Given the description of an element on the screen output the (x, y) to click on. 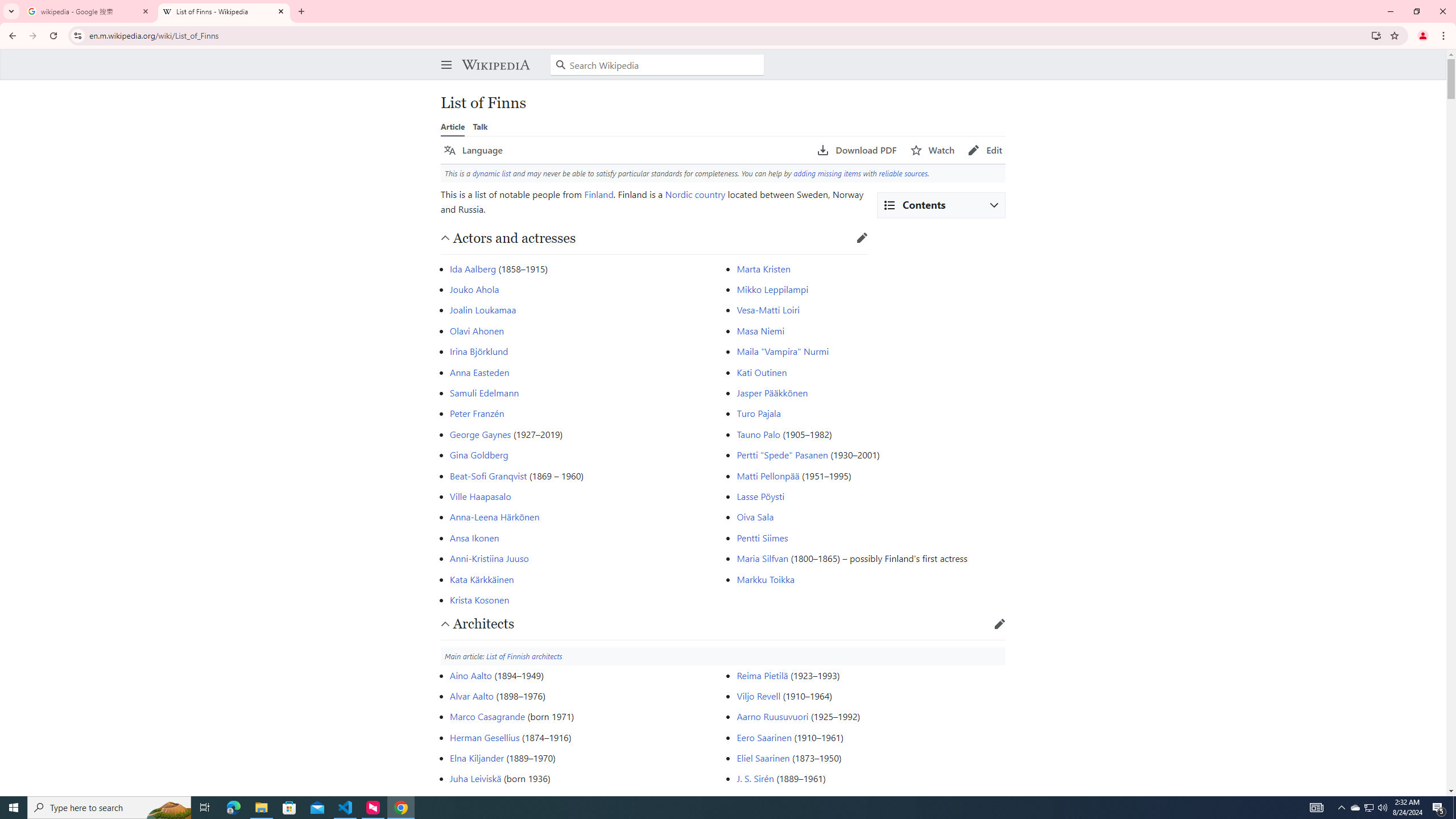
Masa Niemi (760, 330)
Anni-Kristiina Juuso (488, 558)
Ville Haapasalo (480, 495)
Kati Outinen (761, 372)
Maria Silfvan (762, 558)
Aarno Ruusuvuori (772, 716)
